Given the description of an element on the screen output the (x, y) to click on. 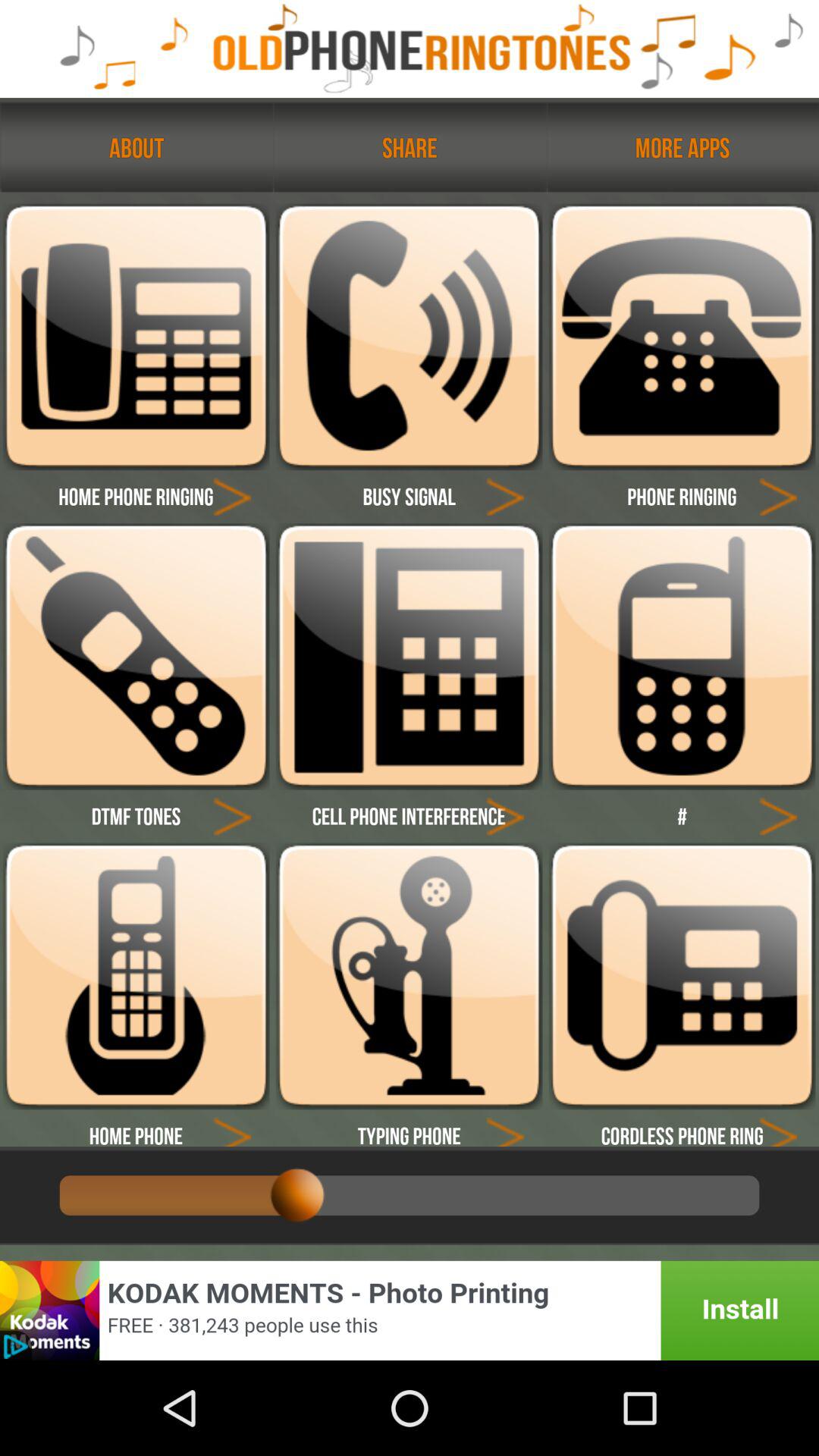
choose home phone ringing (232, 496)
